Given the description of an element on the screen output the (x, y) to click on. 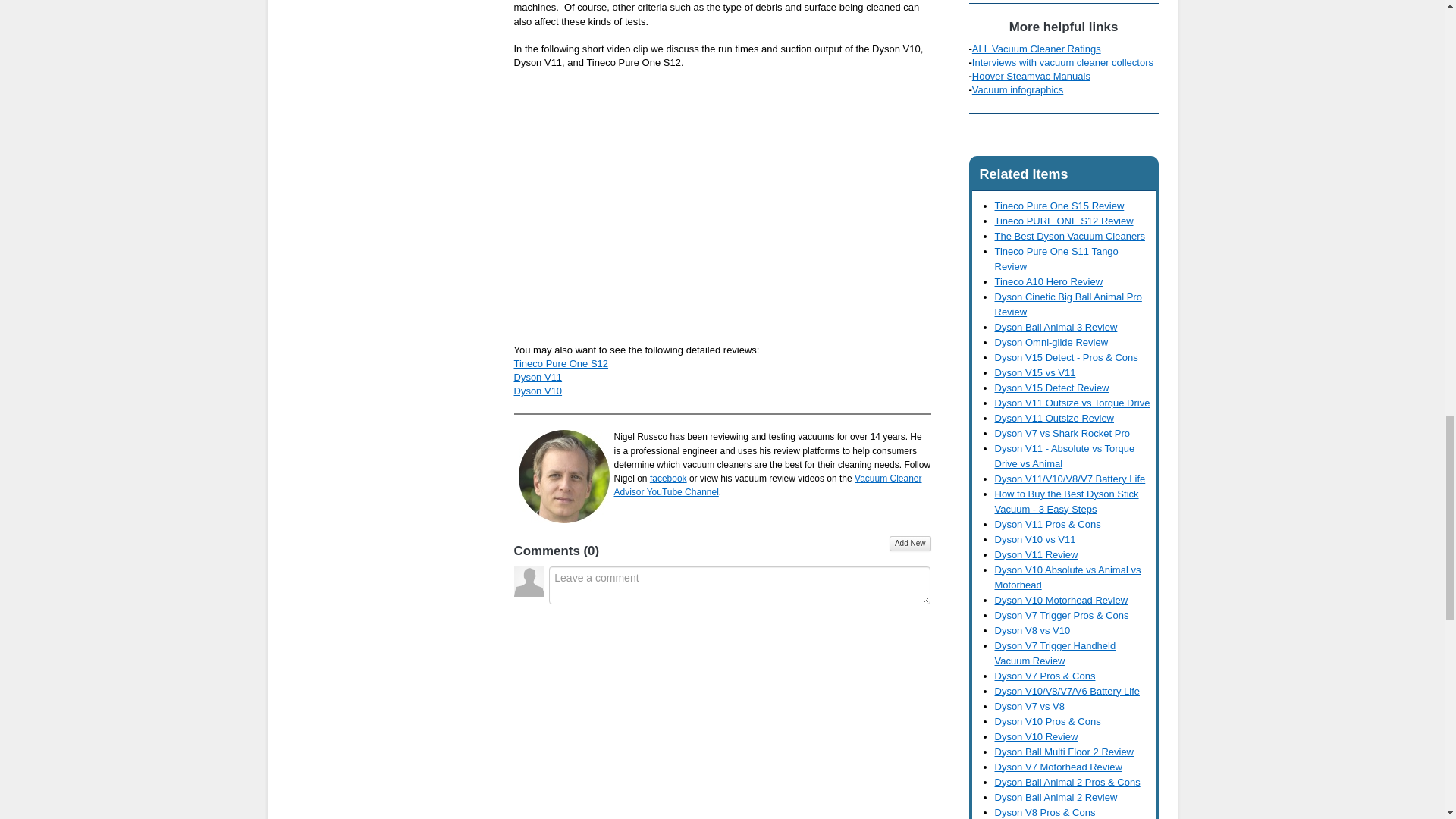
Dyson V10 (537, 390)
Add New (910, 543)
Tineco Pure One S12 (560, 363)
Nigel Russco Vacuum Advisor (564, 476)
Add New (910, 543)
Vacuum Cleaner Advisor YouTube Channel (767, 485)
Dyson V11 (537, 377)
facebook (668, 478)
